Given the description of an element on the screen output the (x, y) to click on. 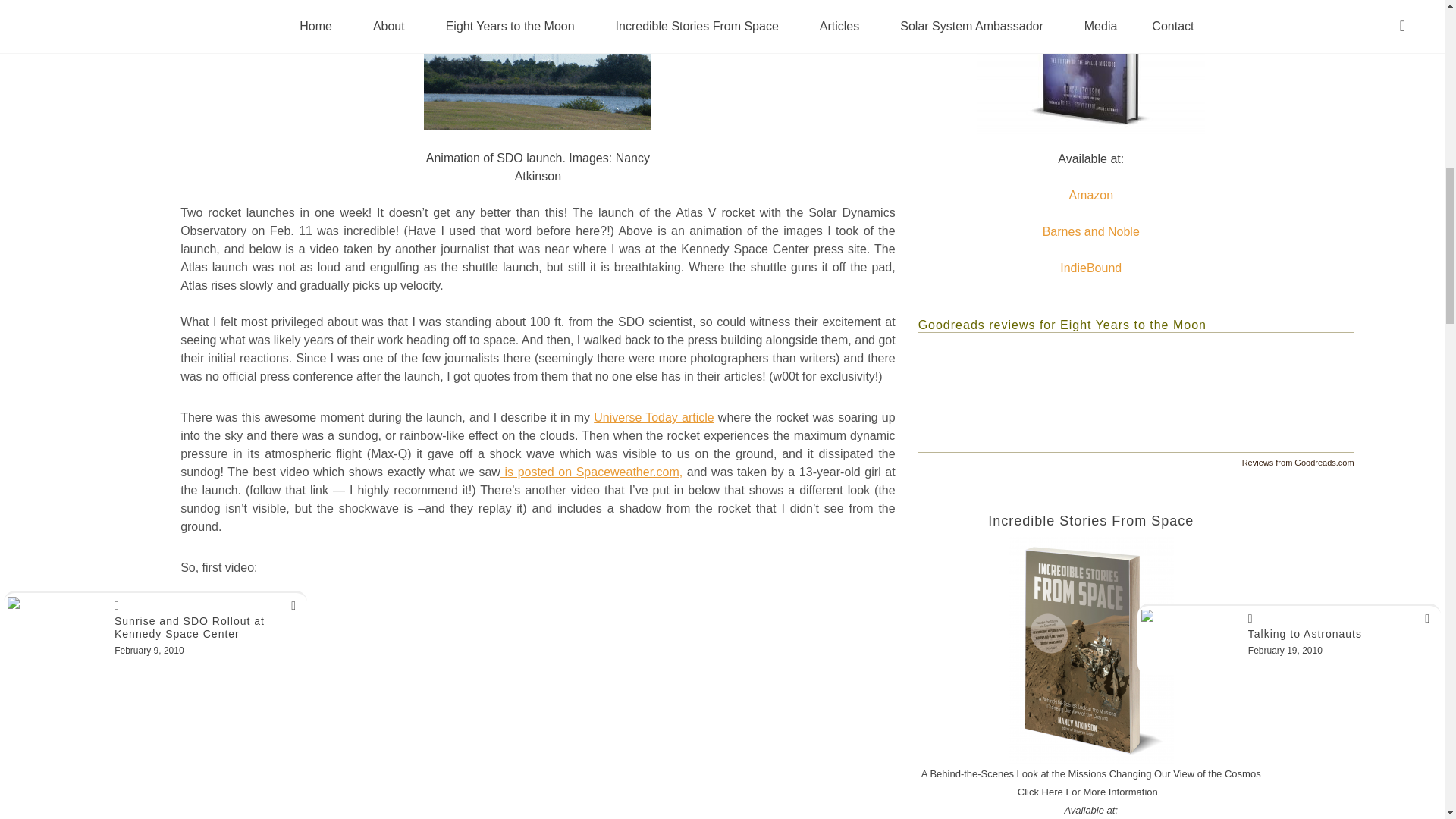
Animation of SDO launch. Images: Nancy Atkinson (536, 69)
is posted on Spaceweather.com, (591, 472)
Universe Today article (654, 417)
